Given the description of an element on the screen output the (x, y) to click on. 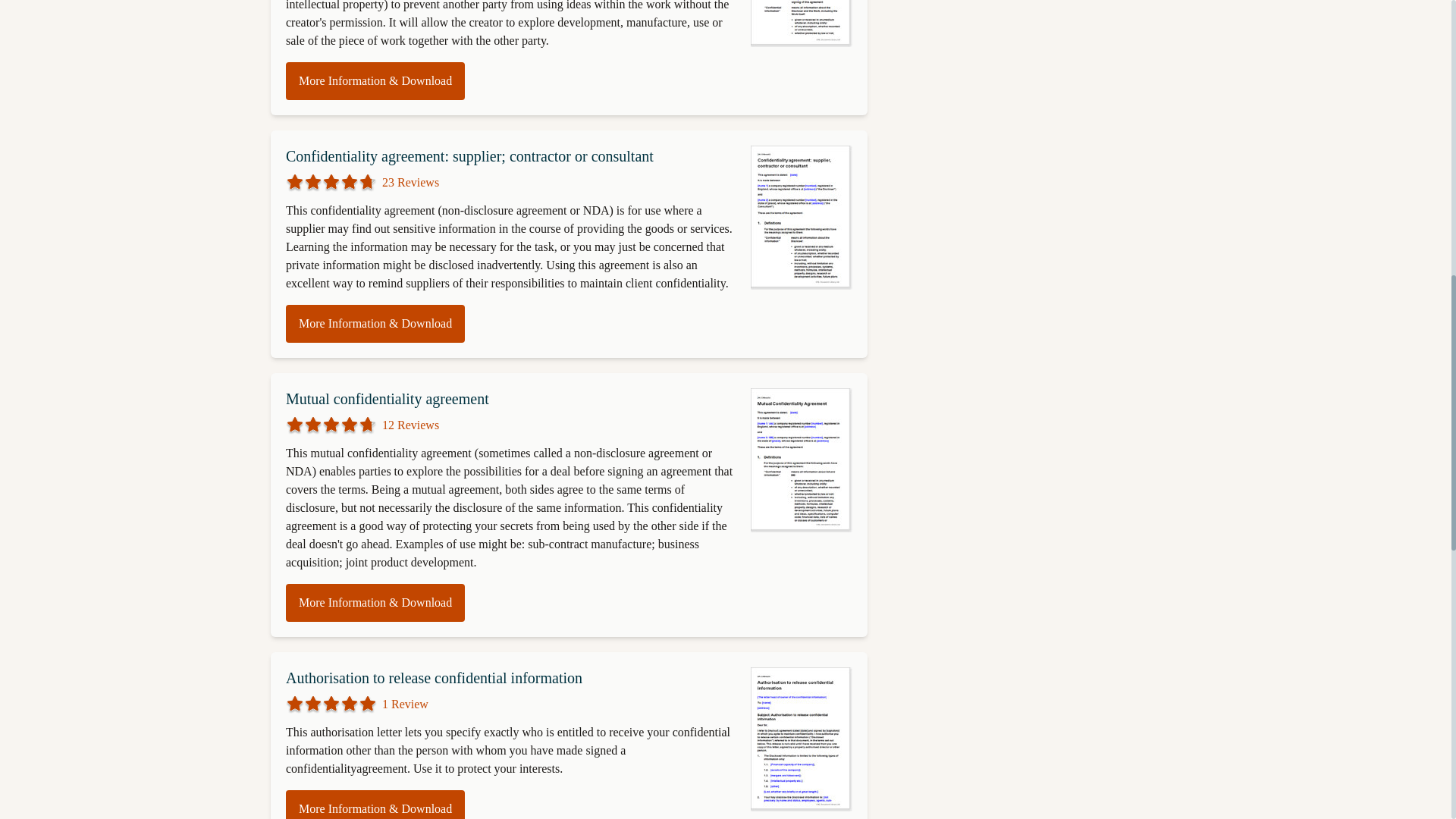
Authorisation to release confidential information (433, 677)
Mutual confidentiality agreement (387, 398)
